Given the description of an element on the screen output the (x, y) to click on. 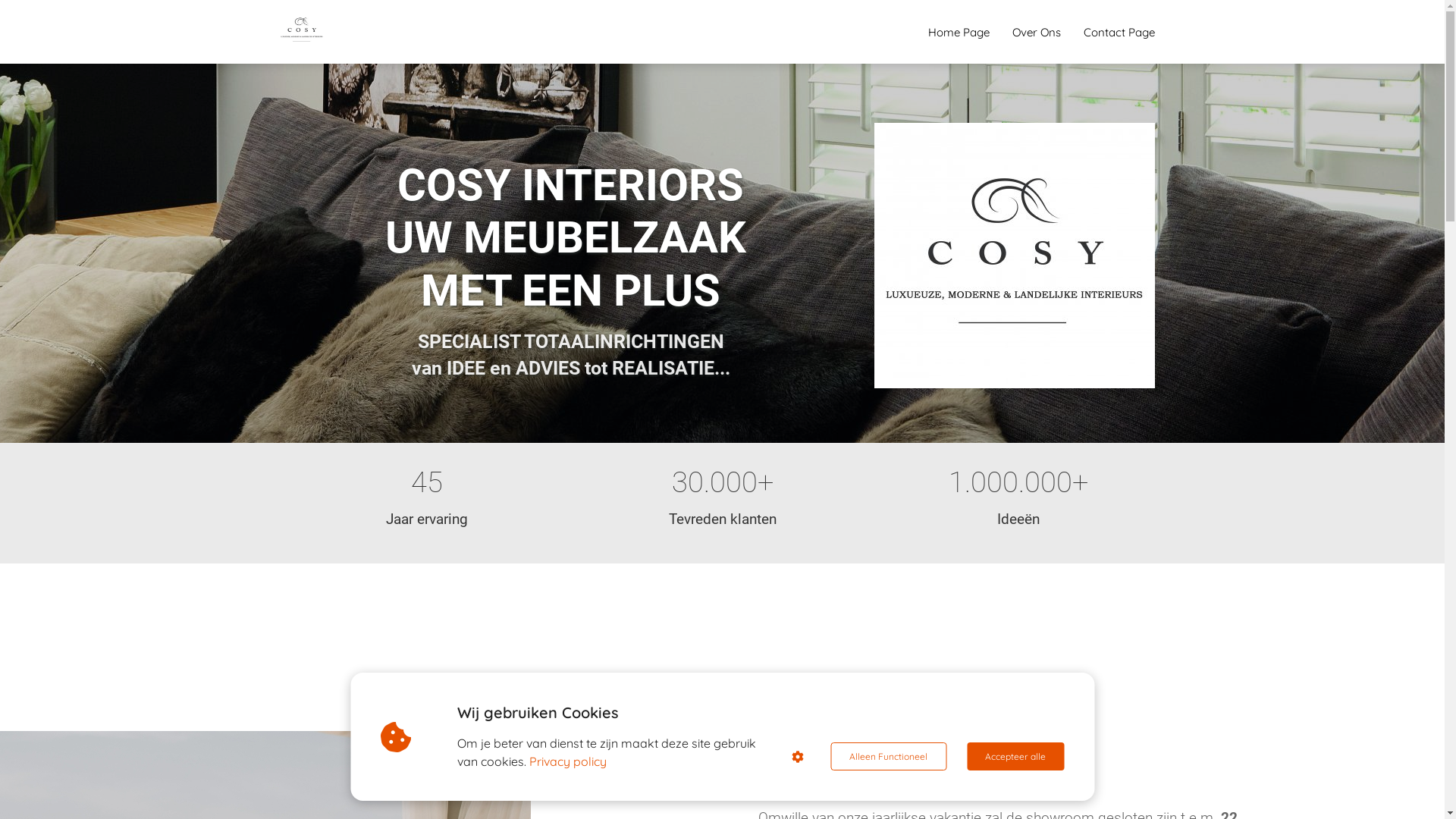
Home Page Element type: text (958, 31)
Over Ons Element type: text (1036, 31)
Cosy In & Out Element type: hover (1013, 255)
Privacy policy Element type: text (567, 761)
Contact Page Element type: text (1119, 31)
